Given the description of an element on the screen output the (x, y) to click on. 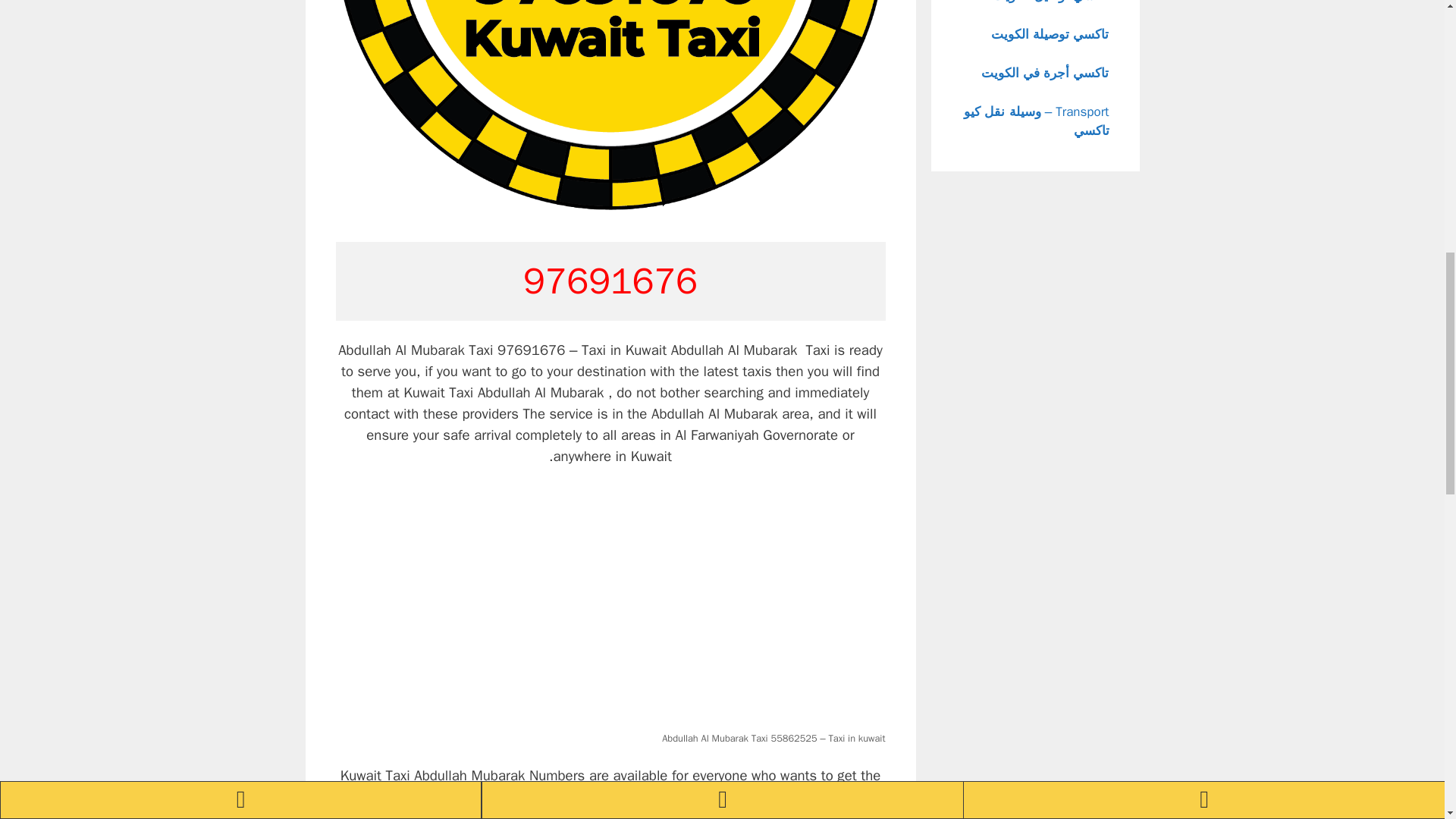
97691676 (609, 280)
